Given the description of an element on the screen output the (x, y) to click on. 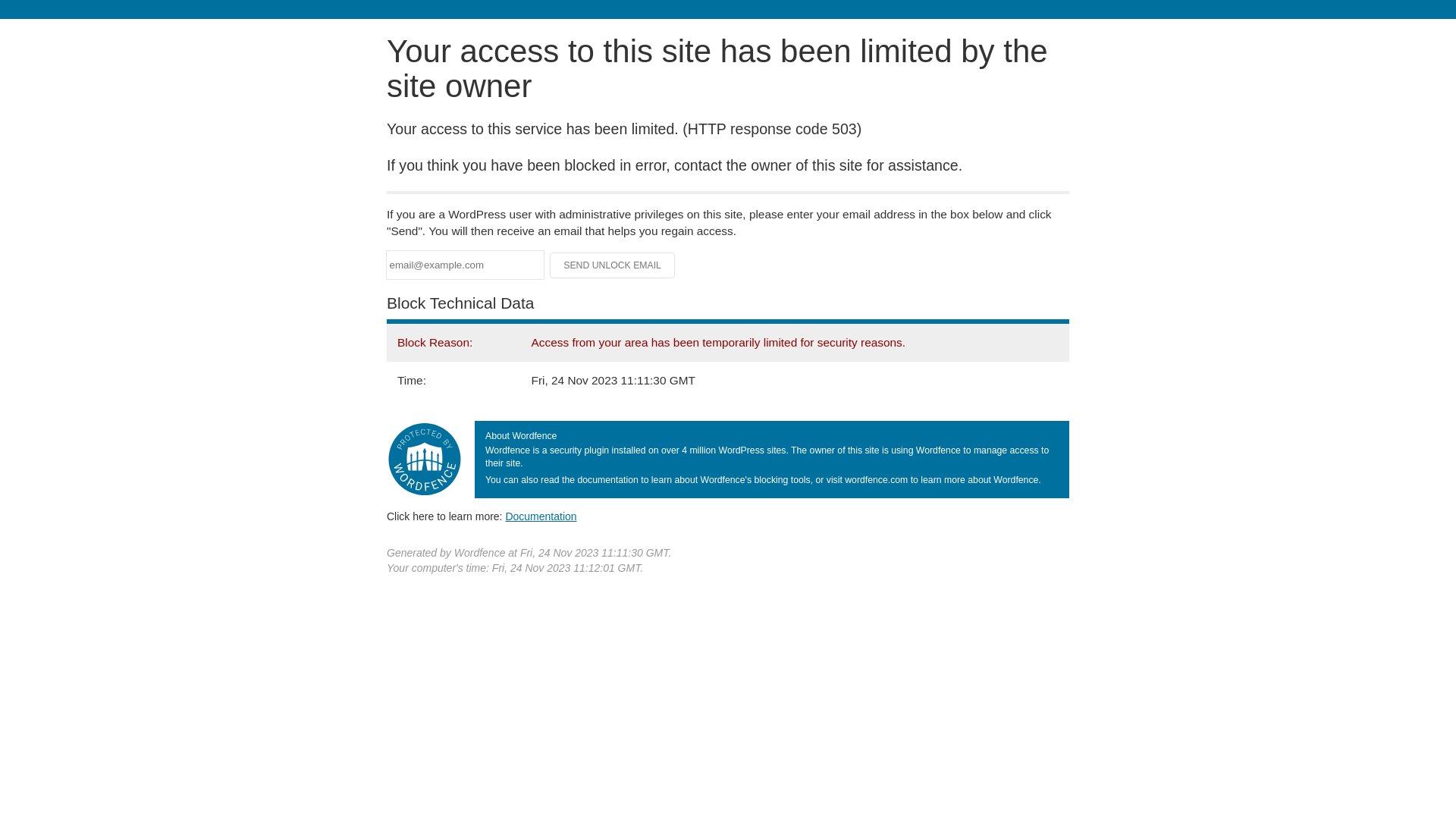
Documentation Element type: text (540, 516)
Send Unlock Email Element type: text (612, 265)
